Given the description of an element on the screen output the (x, y) to click on. 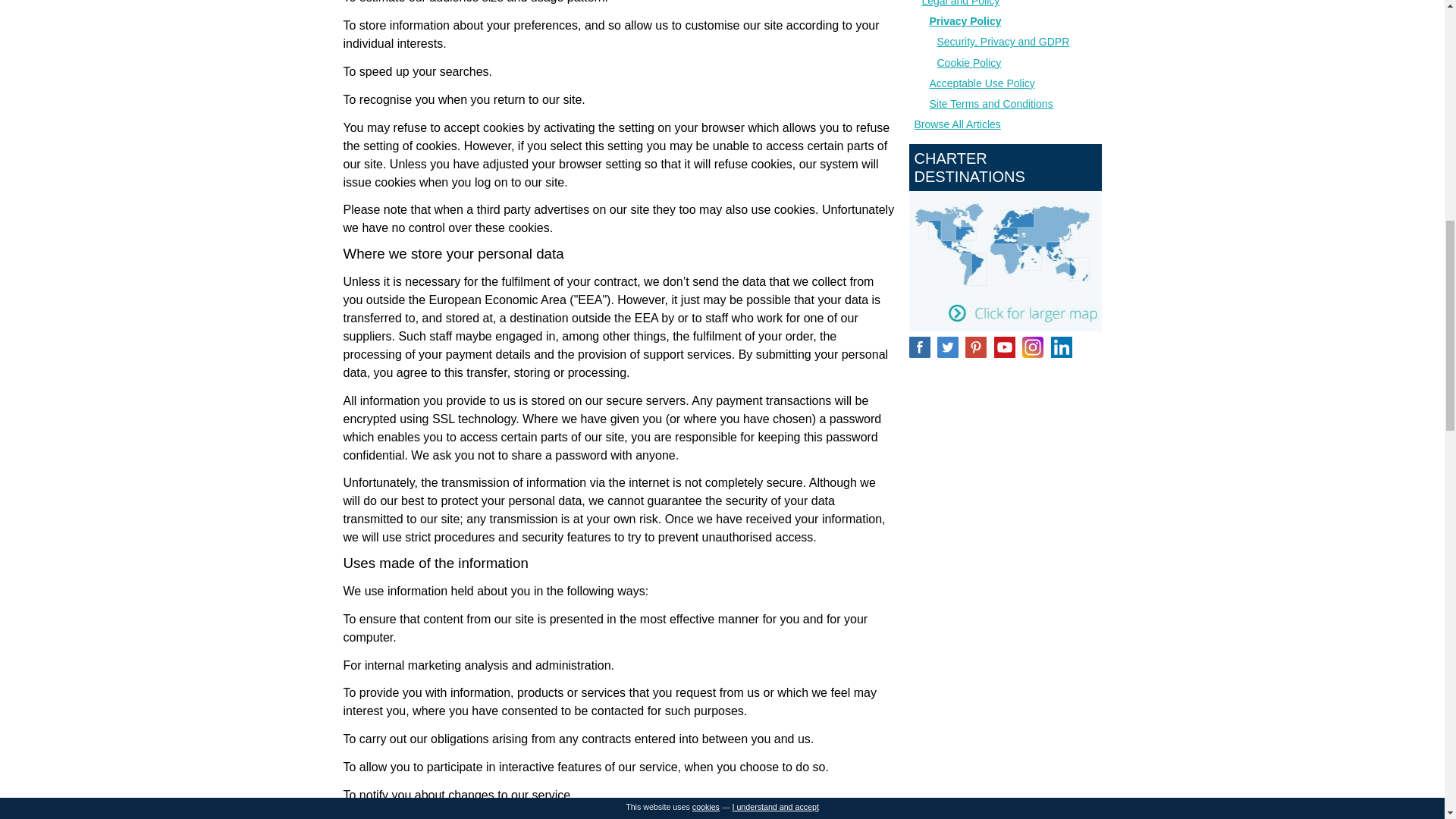
Legal and Policy (960, 3)
Cookie Policy (969, 62)
Site Terms and Conditions (991, 103)
Acceptable Use Policy (982, 82)
Security, Privacy and GDPR (1003, 41)
Privacy Policy (965, 21)
Browse All Articles (957, 123)
